Given the description of an element on the screen output the (x, y) to click on. 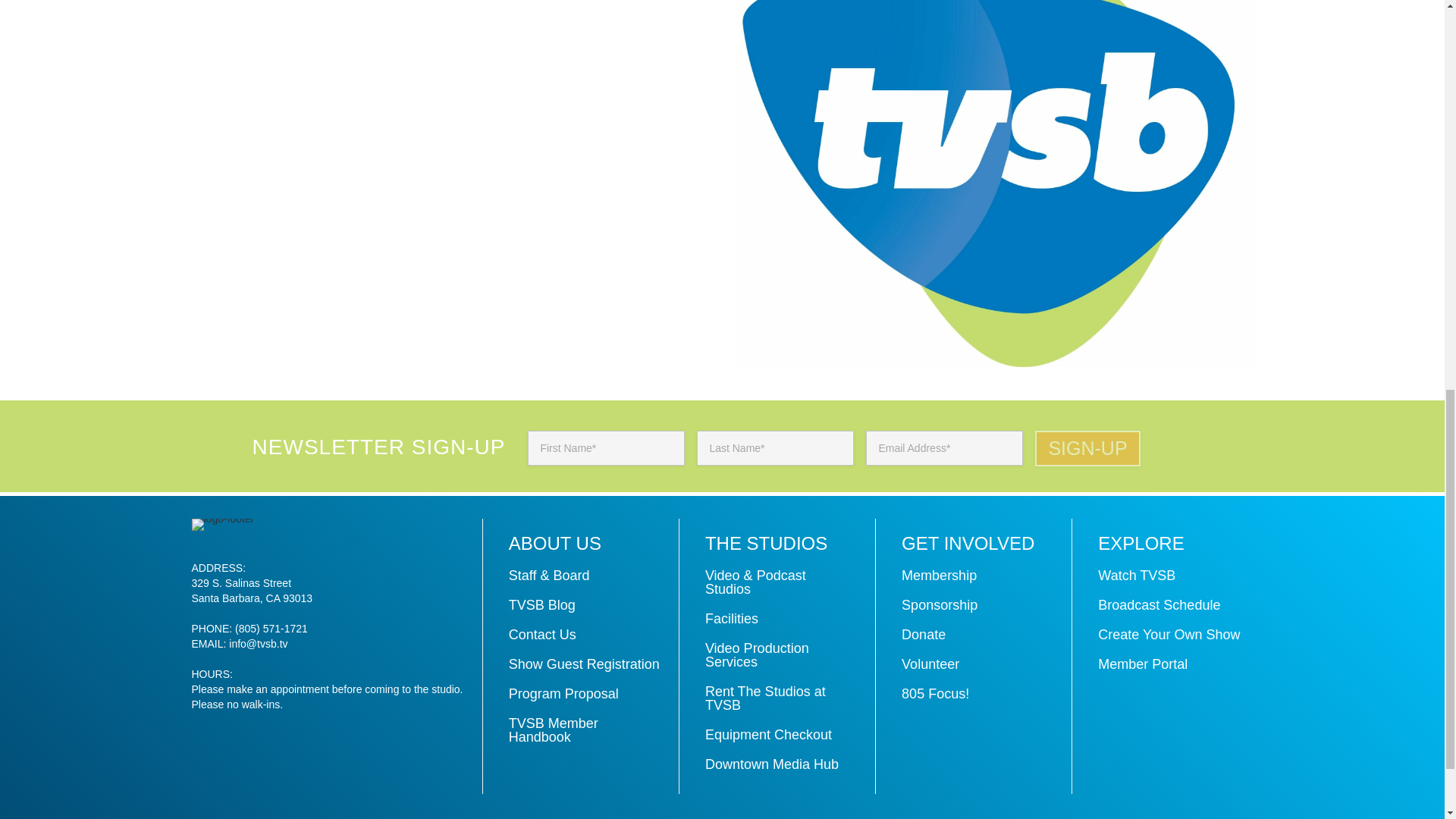
Sign-Up (1087, 448)
Explore (1140, 543)
logo-footer (221, 524)
Get Involved (967, 543)
Sign-Up (1087, 448)
The Studios (765, 543)
About Us (554, 543)
